Given the description of an element on the screen output the (x, y) to click on. 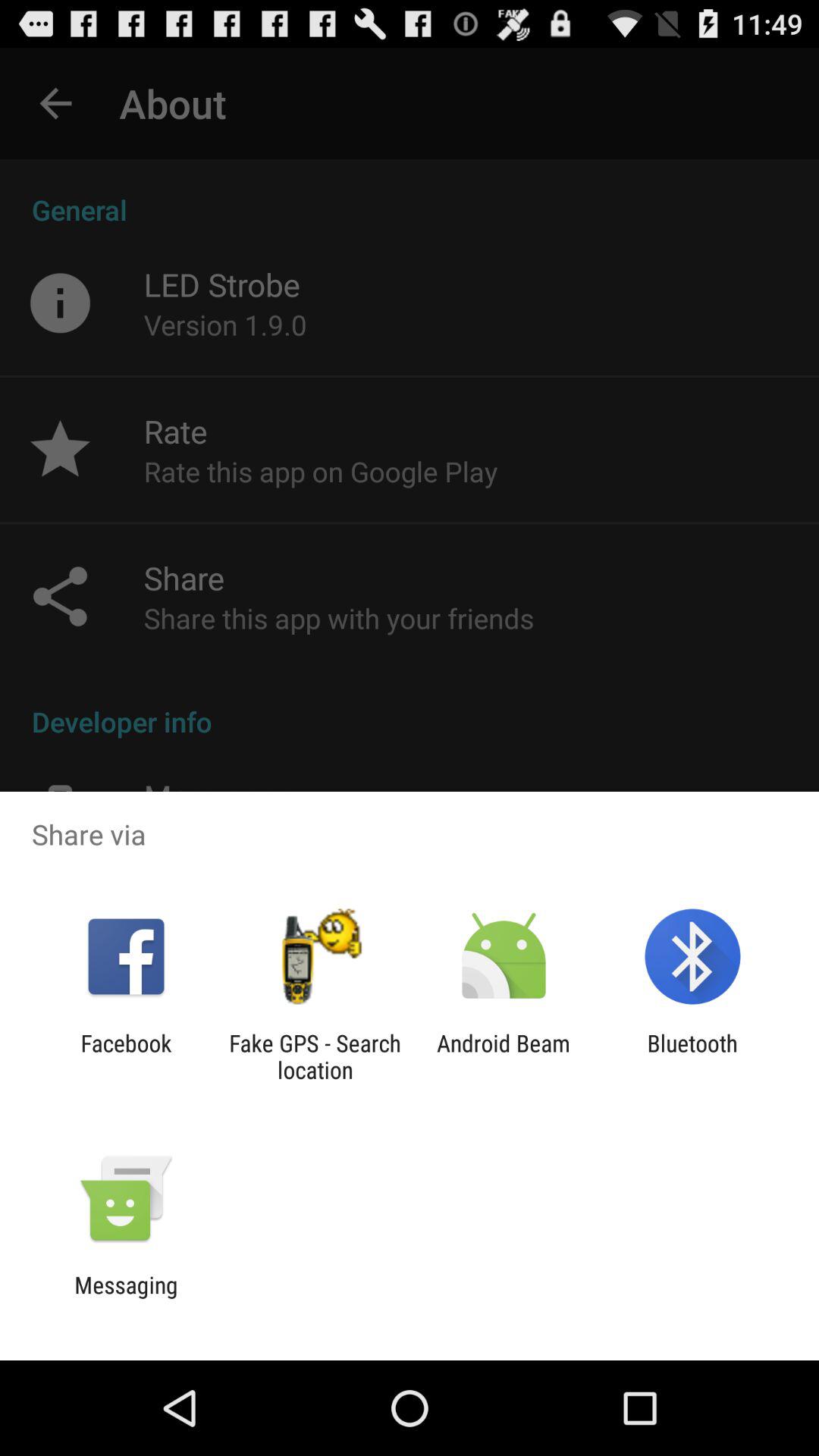
click icon to the right of the fake gps search icon (503, 1056)
